Given the description of an element on the screen output the (x, y) to click on. 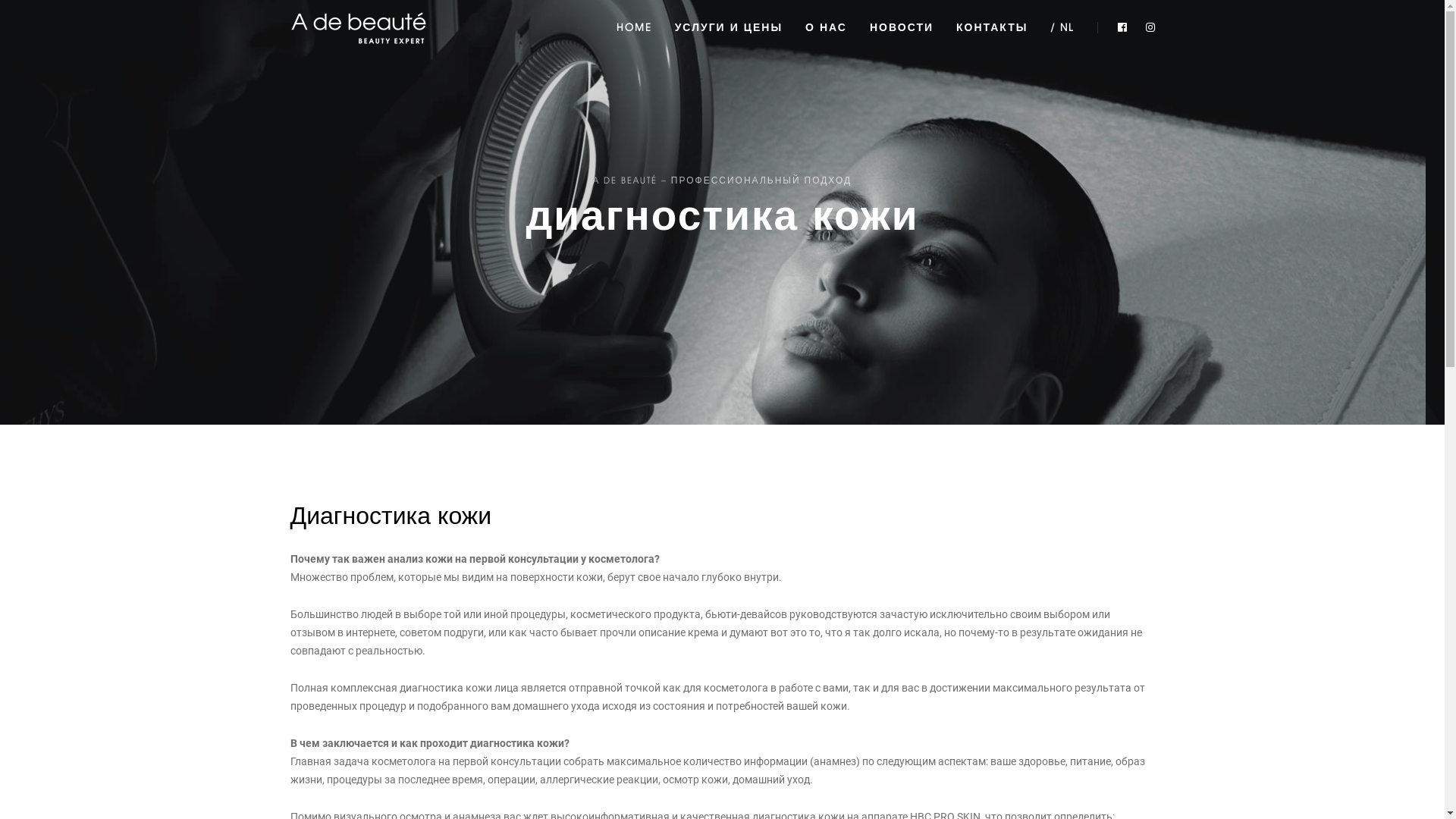
A de beaute Element type: hover (357, 27)
Instagram Element type: hover (1145, 27)
Facebook Element type: hover (1121, 27)
/ NL Element type: text (1062, 27)
HOME Element type: text (634, 27)
